Given the description of an element on the screen output the (x, y) to click on. 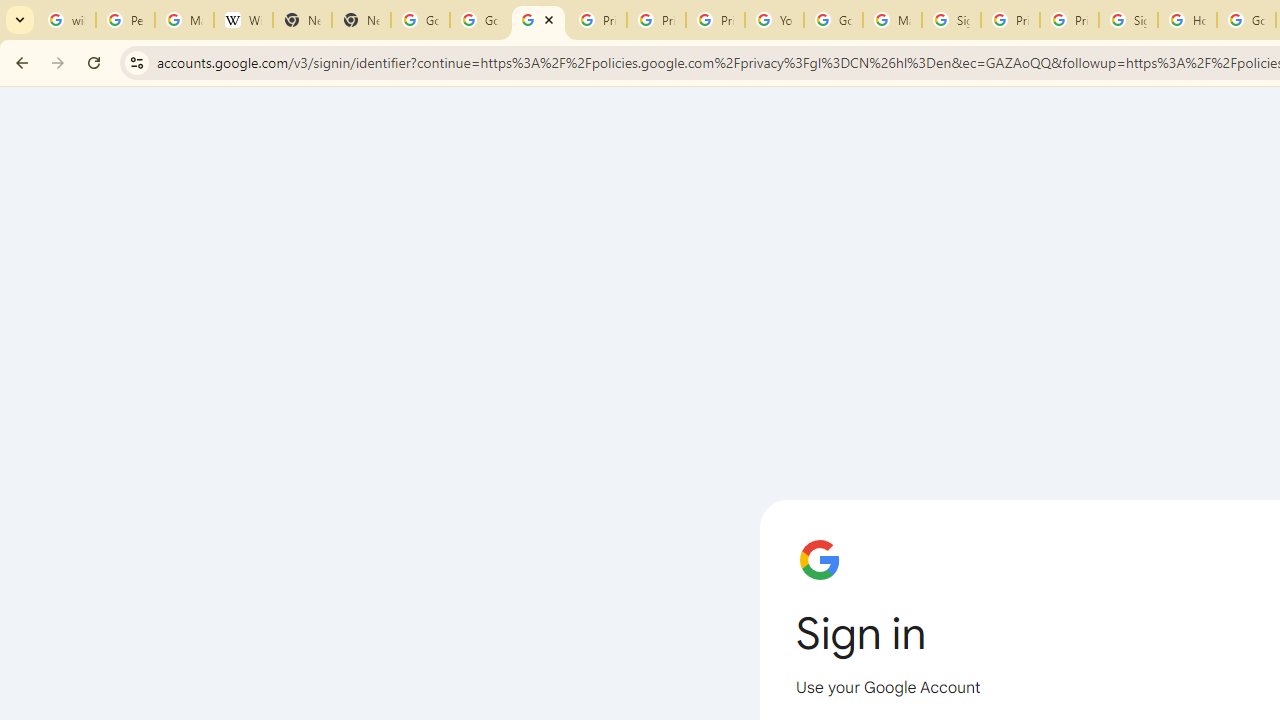
New Tab (301, 20)
Sign in - Google Accounts (1128, 20)
Sign in - Google Accounts (950, 20)
New Tab (360, 20)
YouTube (774, 20)
